Given the description of an element on the screen output the (x, y) to click on. 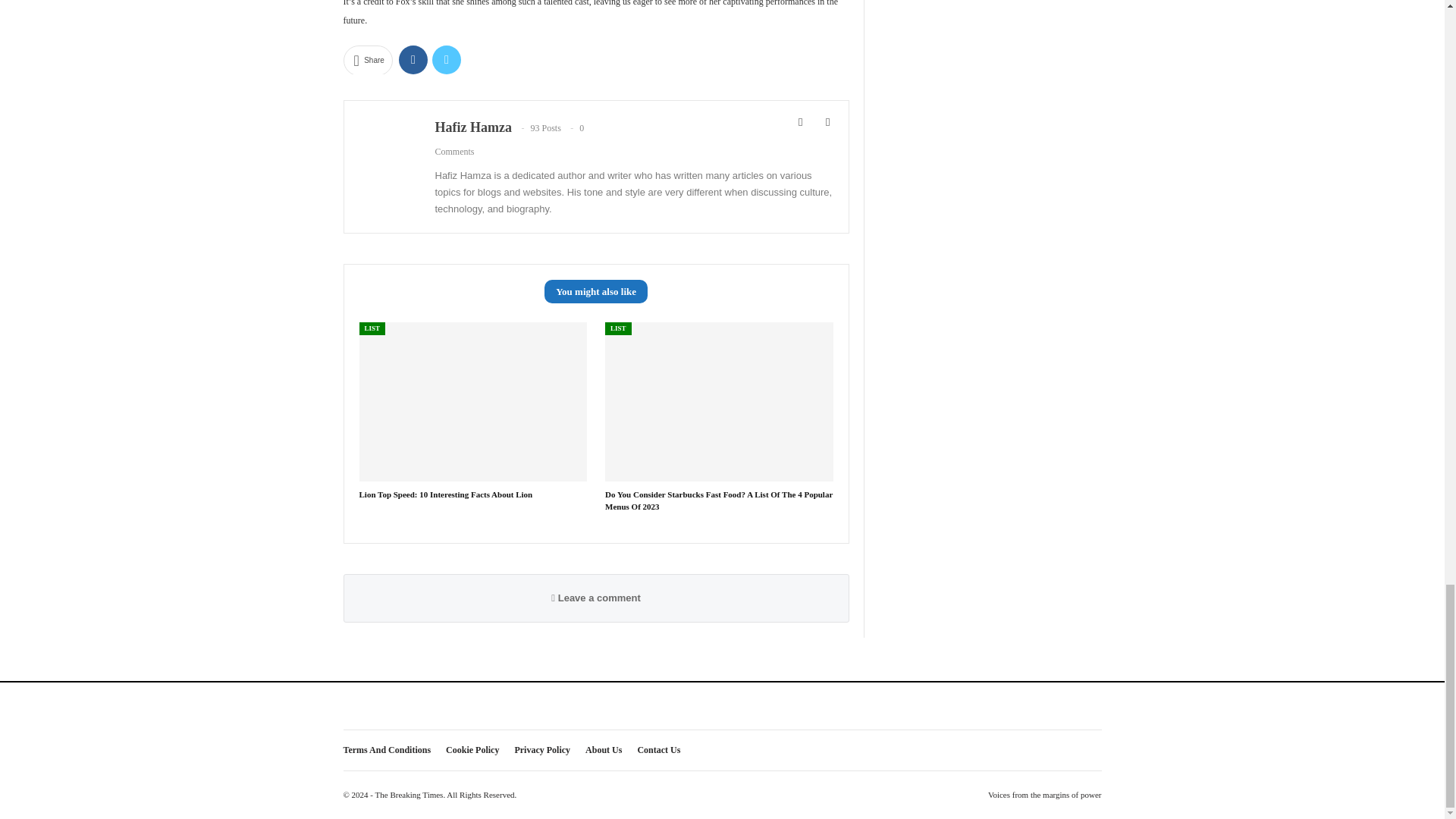
LIST (618, 328)
Hafiz Hamza (473, 127)
LIST (372, 328)
Leave a comment (595, 597)
Lion Top Speed: 10 Interesting Facts About Lion  (446, 493)
